Given the description of an element on the screen output the (x, y) to click on. 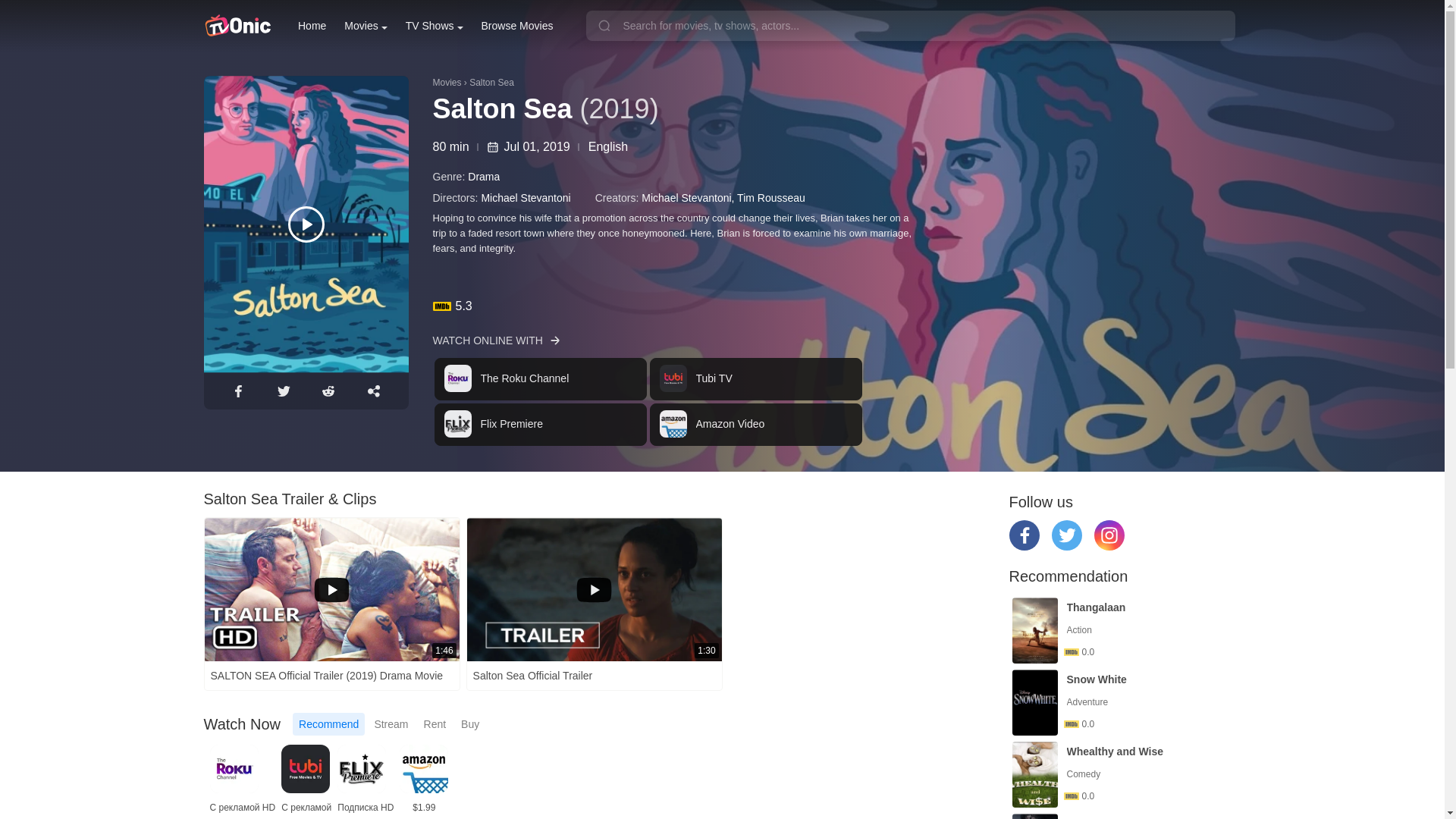
Movies (365, 25)
Home (312, 25)
5.3 (836, 306)
TVOnic (236, 25)
TV Shows (434, 25)
Movies (365, 25)
